Given the description of an element on the screen output the (x, y) to click on. 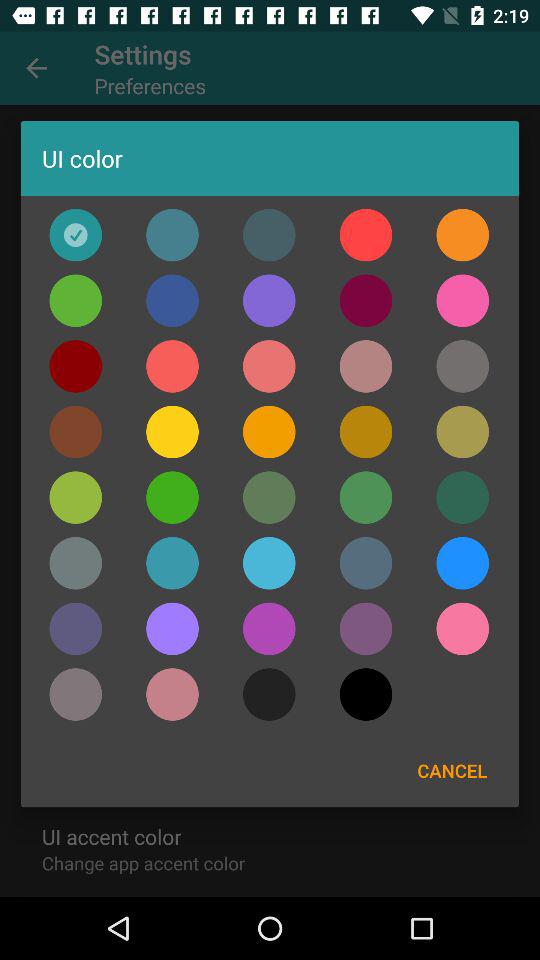
turn on icon below ui color (462, 234)
